Given the description of an element on the screen output the (x, y) to click on. 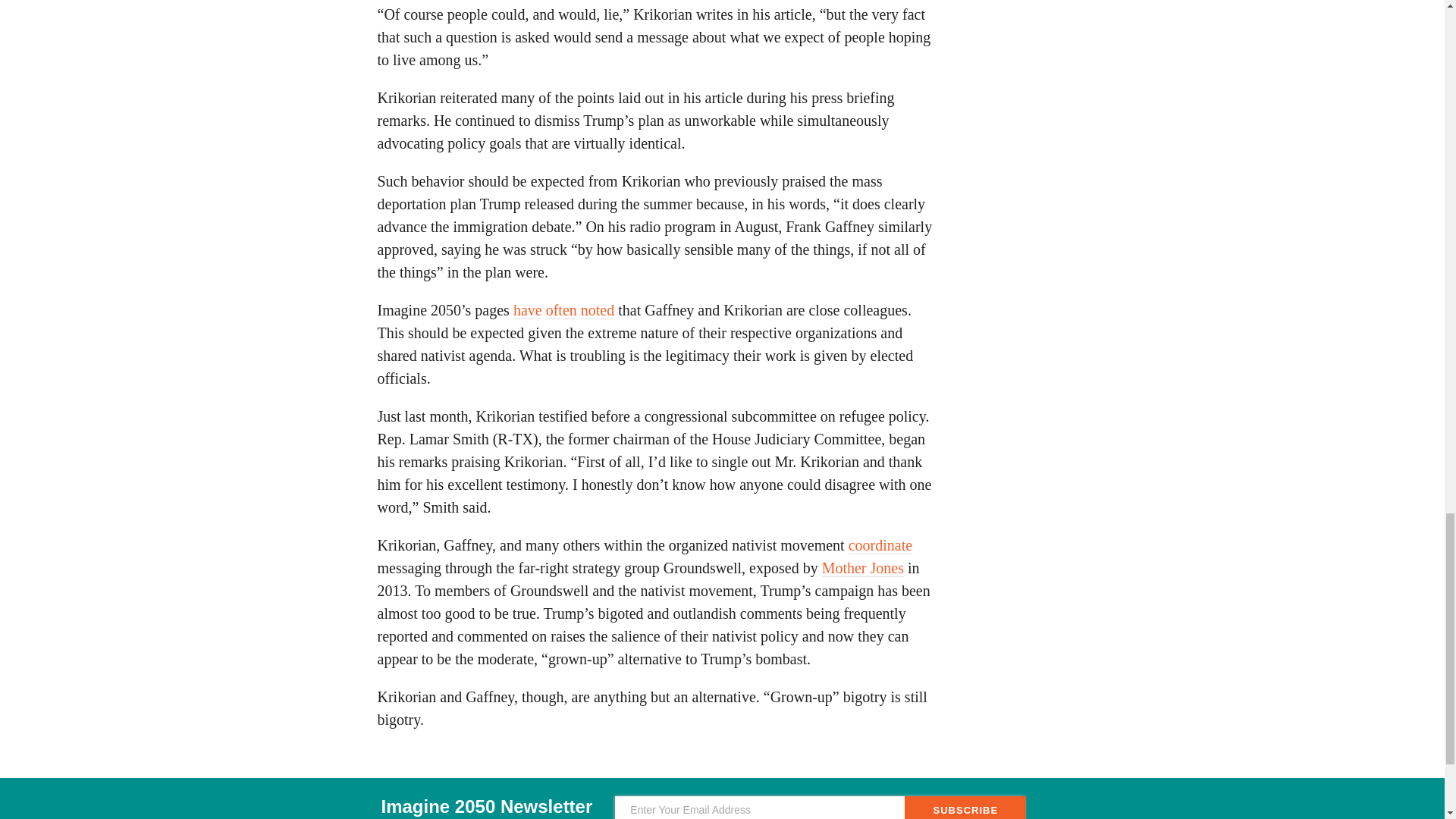
often (561, 310)
have (527, 310)
Subscribe (965, 807)
